Given the description of an element on the screen output the (x, y) to click on. 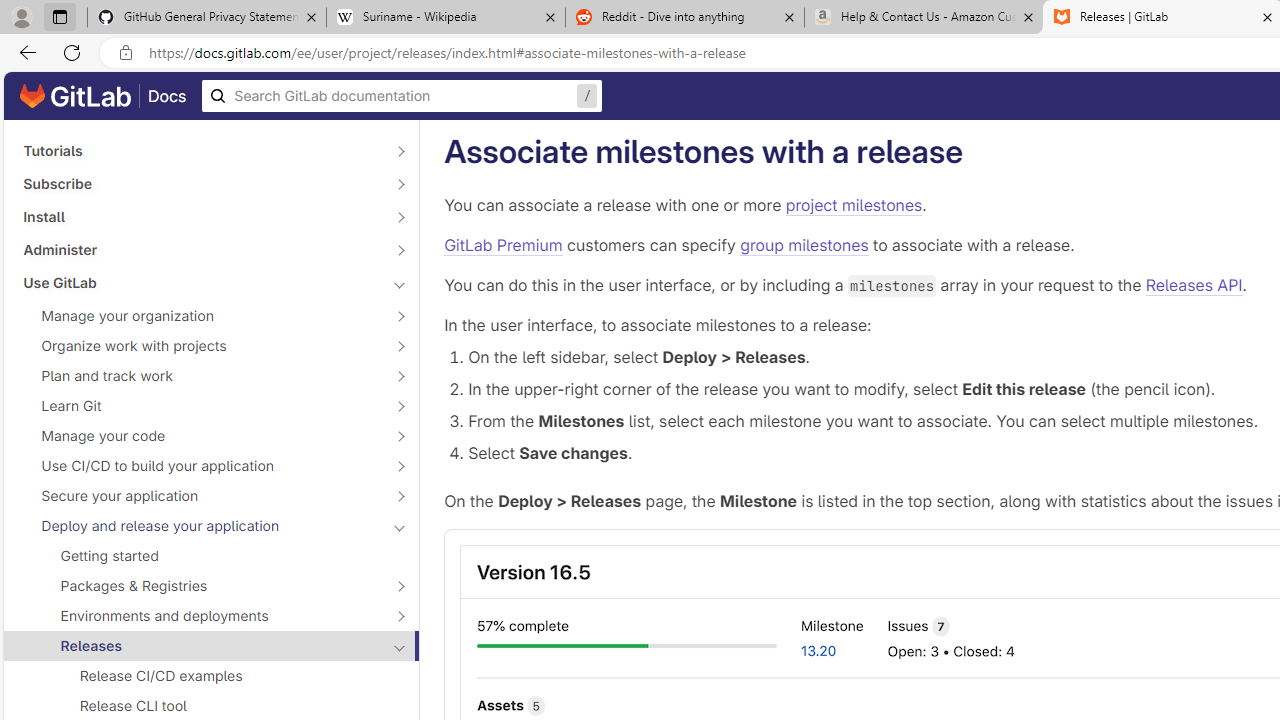
Organize work with projects (199, 345)
Secure your application (199, 495)
Suriname - Wikipedia (445, 17)
Use CI/CD to build your application (199, 465)
Subscribe (199, 183)
GitLab documentation home Docs (103, 96)
GitLab Premium (503, 245)
GitLab documentation home (75, 96)
Help & Contact Us - Amazon Customer Service - Sleeping (924, 17)
Manage your organization (199, 315)
